Given the description of an element on the screen output the (x, y) to click on. 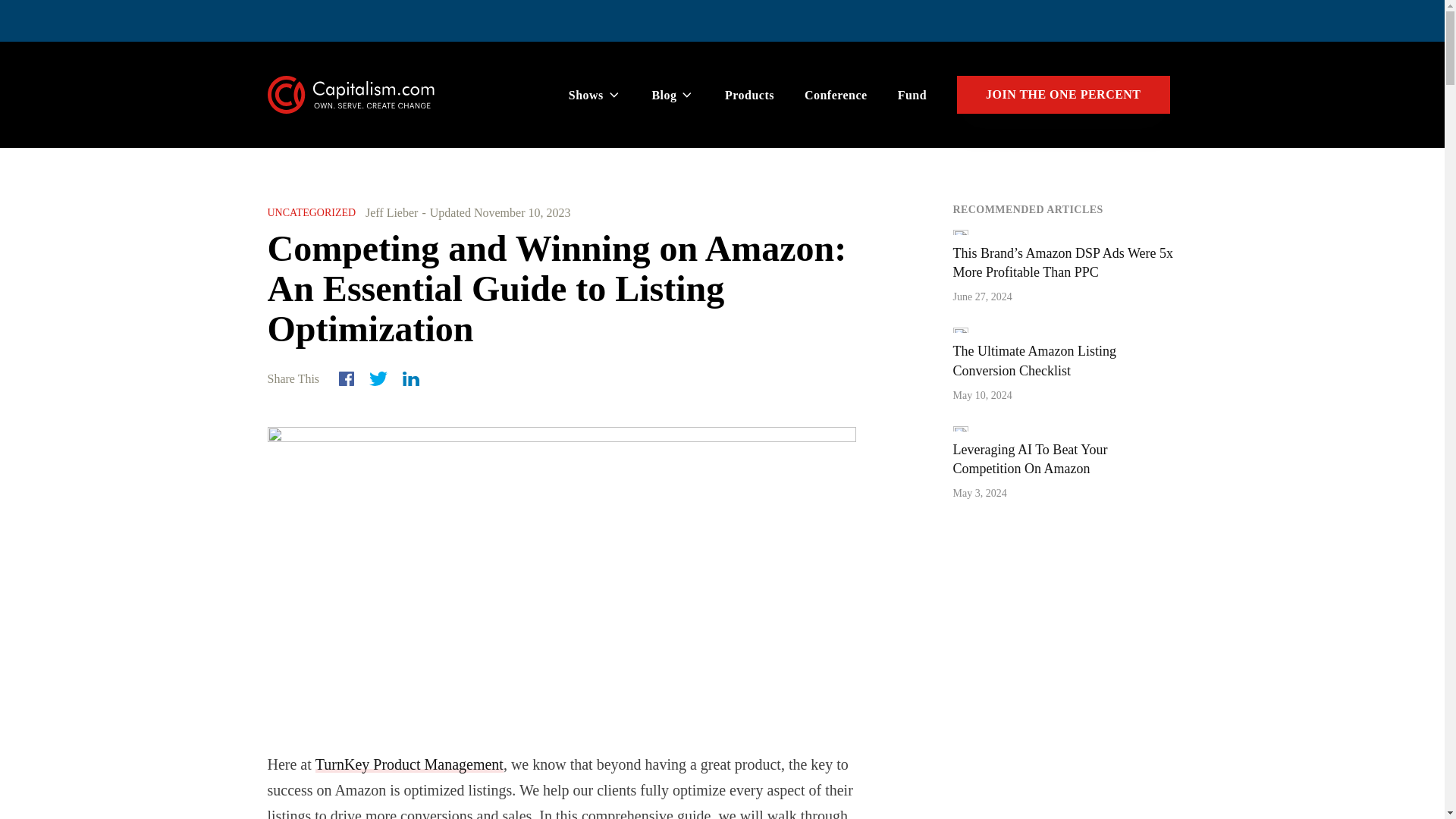
TurnKey Product Management (409, 764)
Leveraging AI To Beat Your Competition On Amazon (1029, 458)
Shows (595, 95)
JOIN THE ONE PERCENT (1062, 94)
Conference (835, 95)
Blog (673, 95)
Products (749, 95)
UNCATEGORIZED (310, 212)
Fund (912, 95)
The Ultimate Amazon Listing Conversion Checklist (1033, 360)
